Given the description of an element on the screen output the (x, y) to click on. 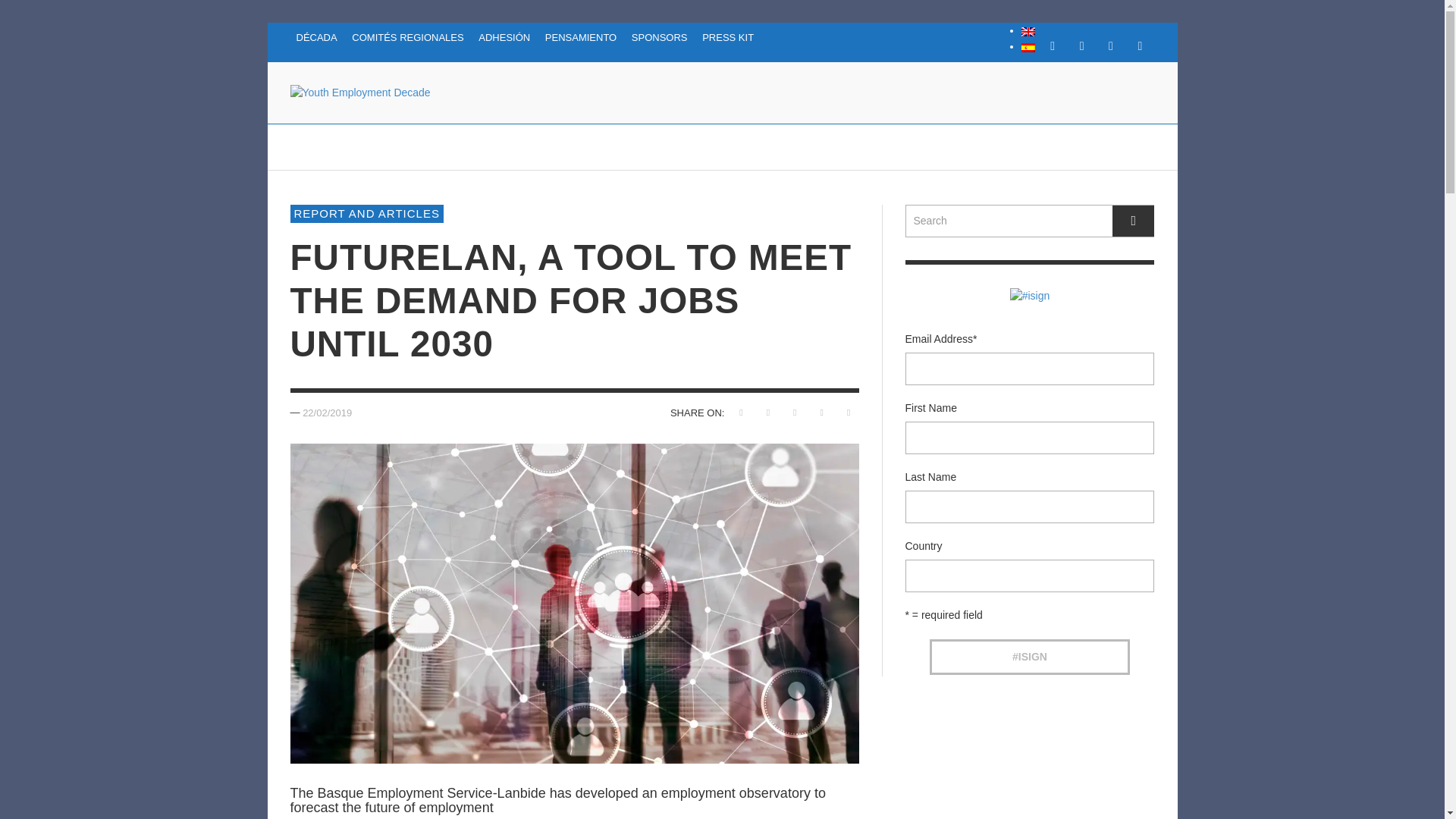
Facebook (1052, 46)
PRESS KIT (727, 37)
SPONSORS (660, 37)
Twitter (1110, 46)
Youtube (1139, 46)
PENSAMIENTO (580, 37)
Search (1029, 220)
